Given the description of an element on the screen output the (x, y) to click on. 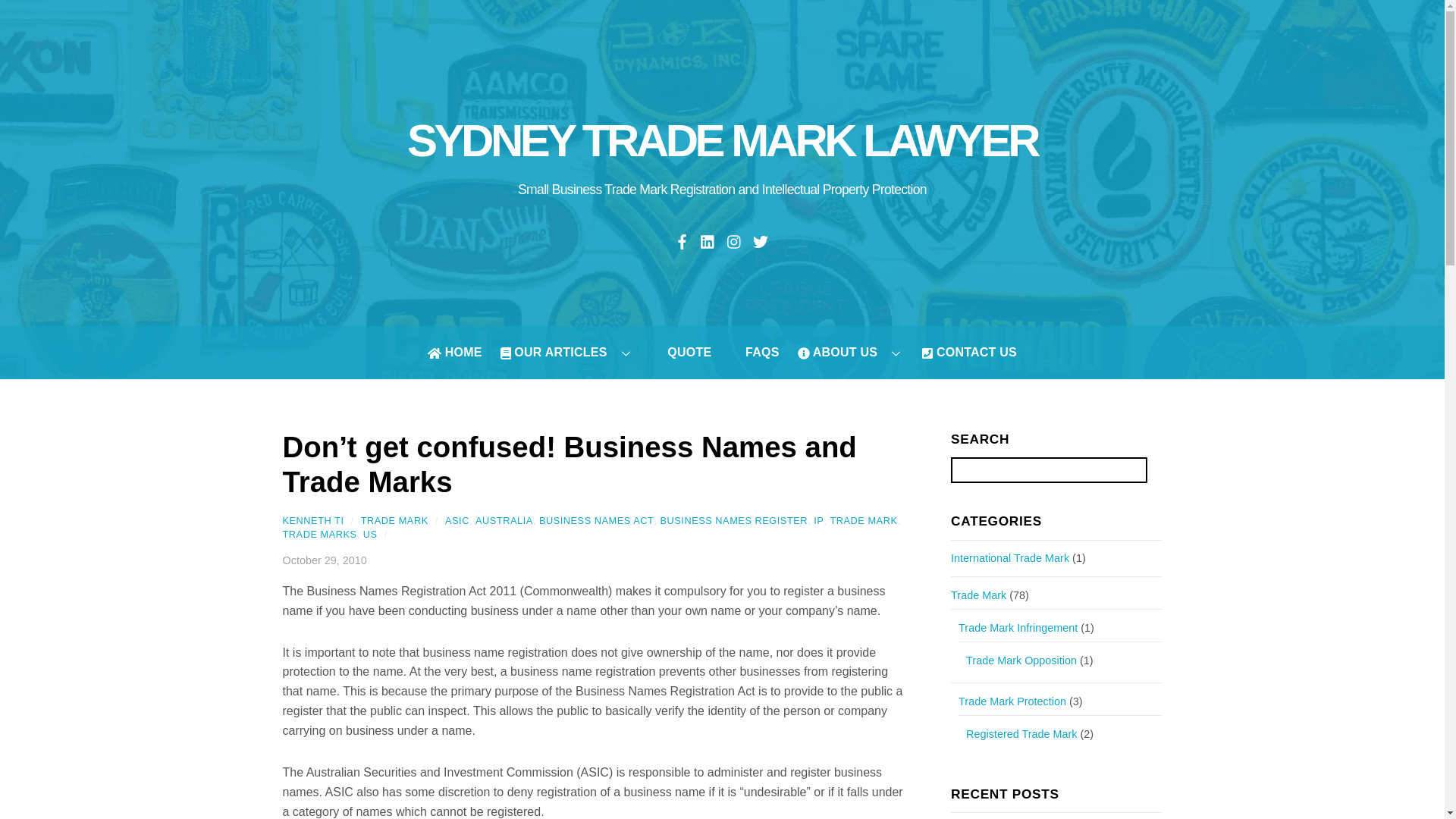
FAQS (753, 352)
TRADE MARK (862, 520)
HOME (454, 352)
Trade Mark Opposition (1021, 660)
Registered Trade Mark (1021, 734)
BUSINESS NAMES REGISTER (733, 520)
TRADE MARKS (319, 533)
Sydney Trade Mark Lawyer (721, 140)
QUOTE (681, 352)
Trade Mark (978, 594)
